Given the description of an element on the screen output the (x, y) to click on. 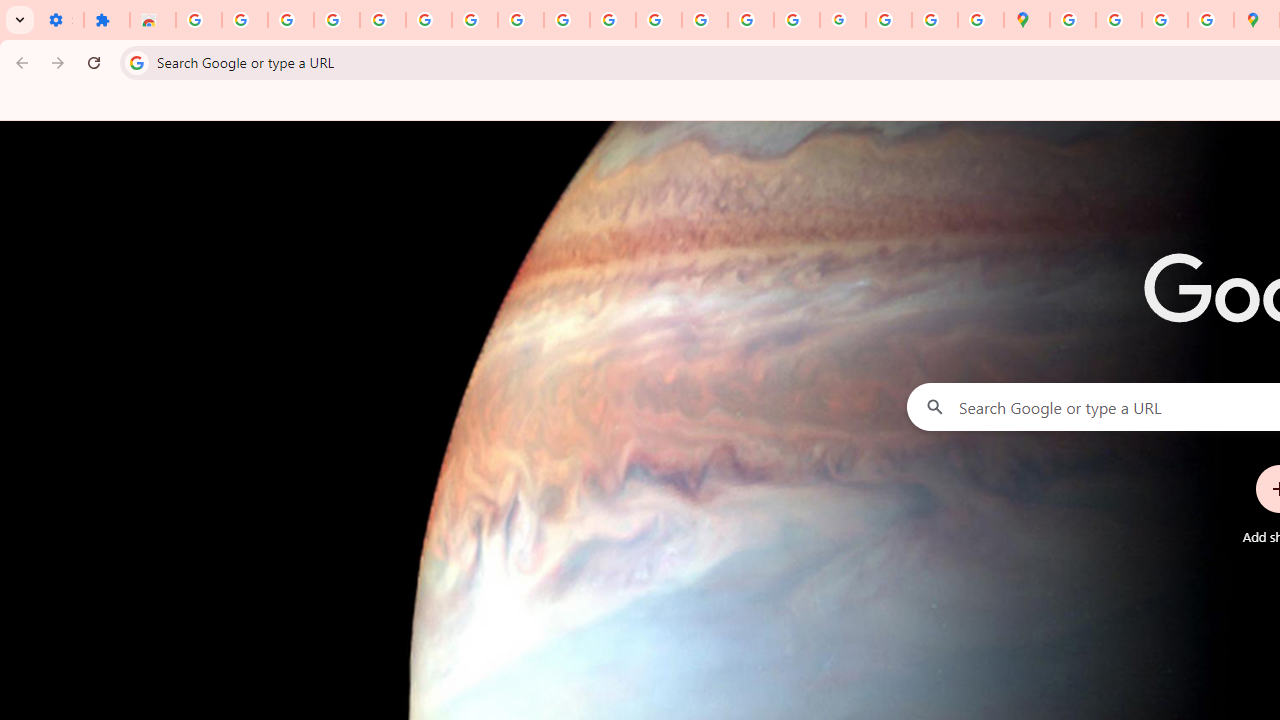
Delete photos & videos - Computer - Google Photos Help (290, 20)
Google Account (520, 20)
https://scholar.google.com/ (659, 20)
Reviews: Helix Fruit Jump Arcade Game (153, 20)
YouTube (567, 20)
Sign in - Google Accounts (198, 20)
Safety in Our Products - Google Safety Center (1210, 20)
Learn how to find your photos - Google Photos Help (336, 20)
